Given the description of an element on the screen output the (x, y) to click on. 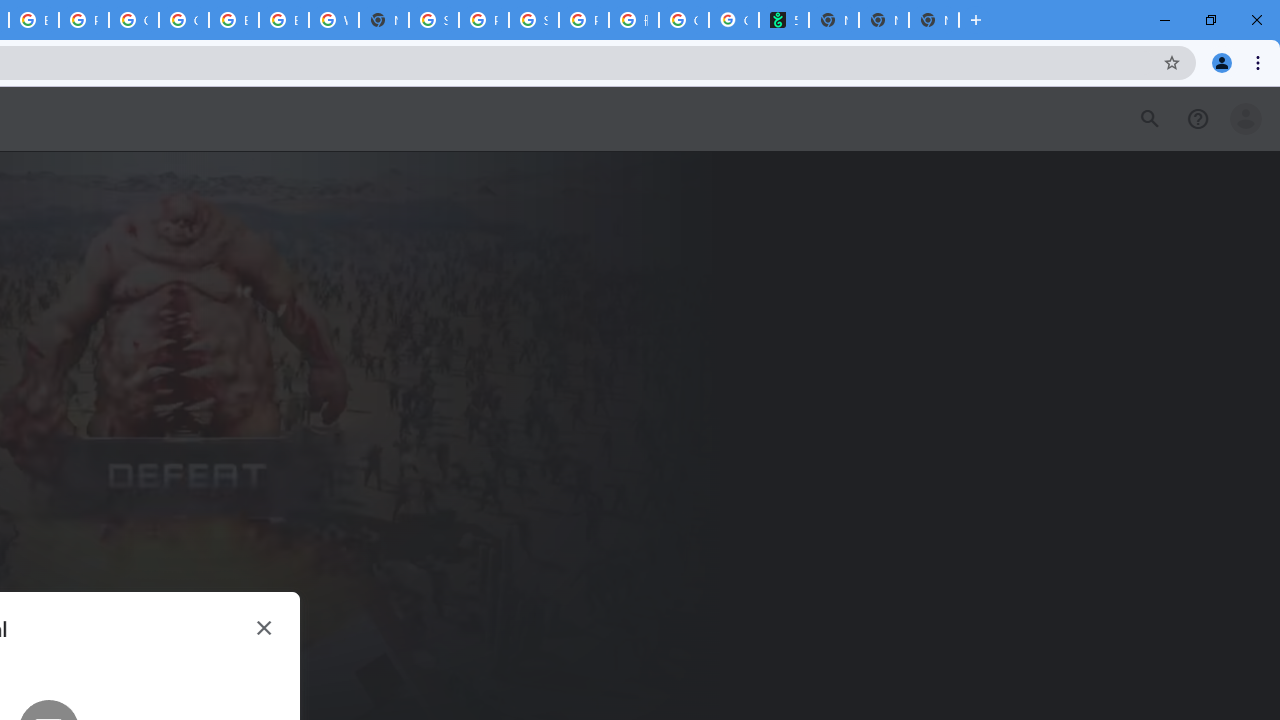
Google Cloud Platform (183, 20)
Sign in - Google Accounts (433, 20)
Browse Chrome as a guest - Computer - Google Chrome Help (233, 20)
